Given the description of an element on the screen output the (x, y) to click on. 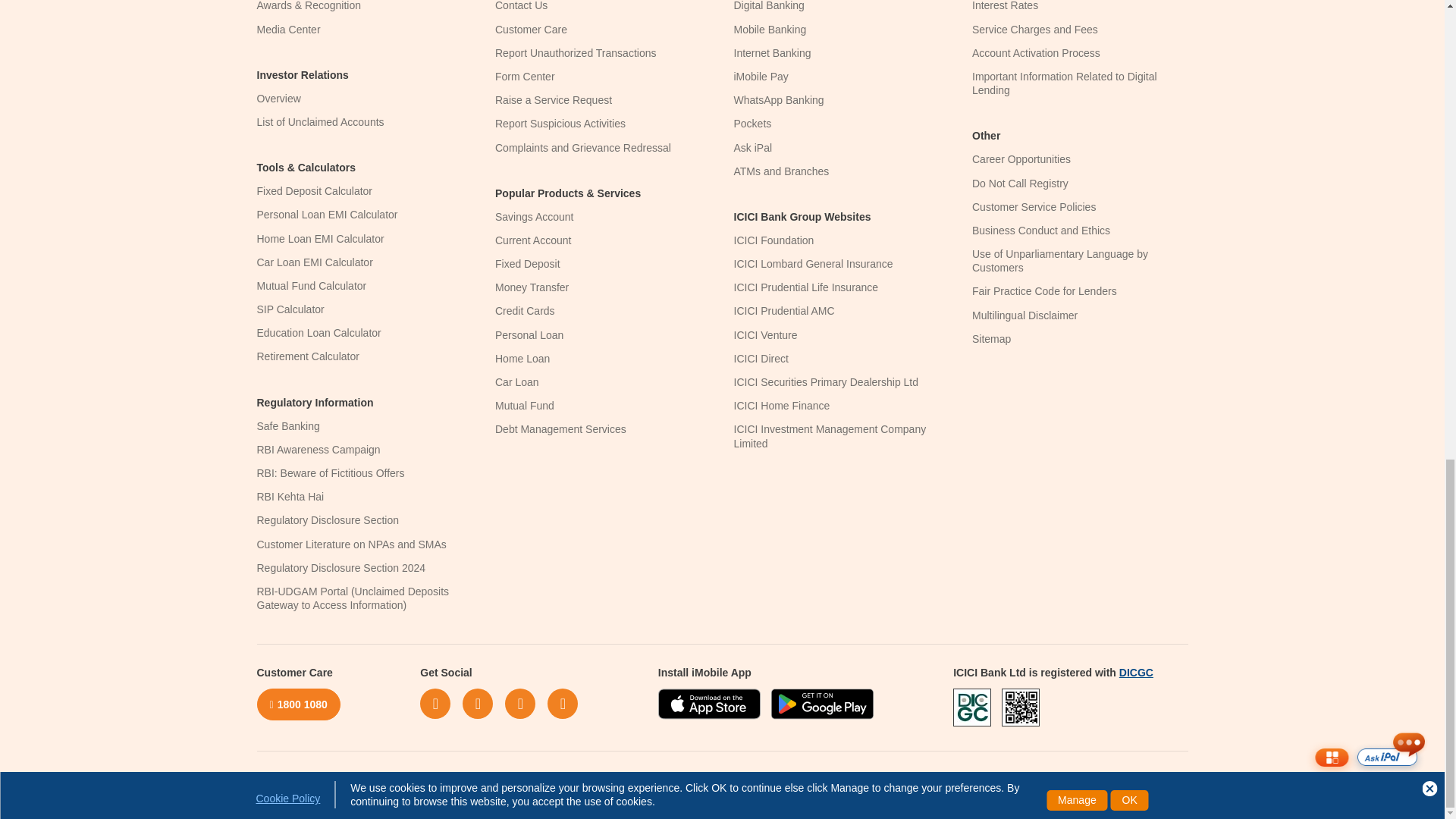
Home Loan EMI Calculator (320, 238)
SIP Calculator (289, 309)
Mutual Fund Calculator (311, 285)
Car Loan EMI Calculator (314, 262)
Overview (277, 98)
List of Unclaimed Accounts (320, 121)
Media Center (288, 29)
Fixed Deposit Calculator (314, 191)
Personal Loan EMI Calculator (326, 214)
